Given the description of an element on the screen output the (x, y) to click on. 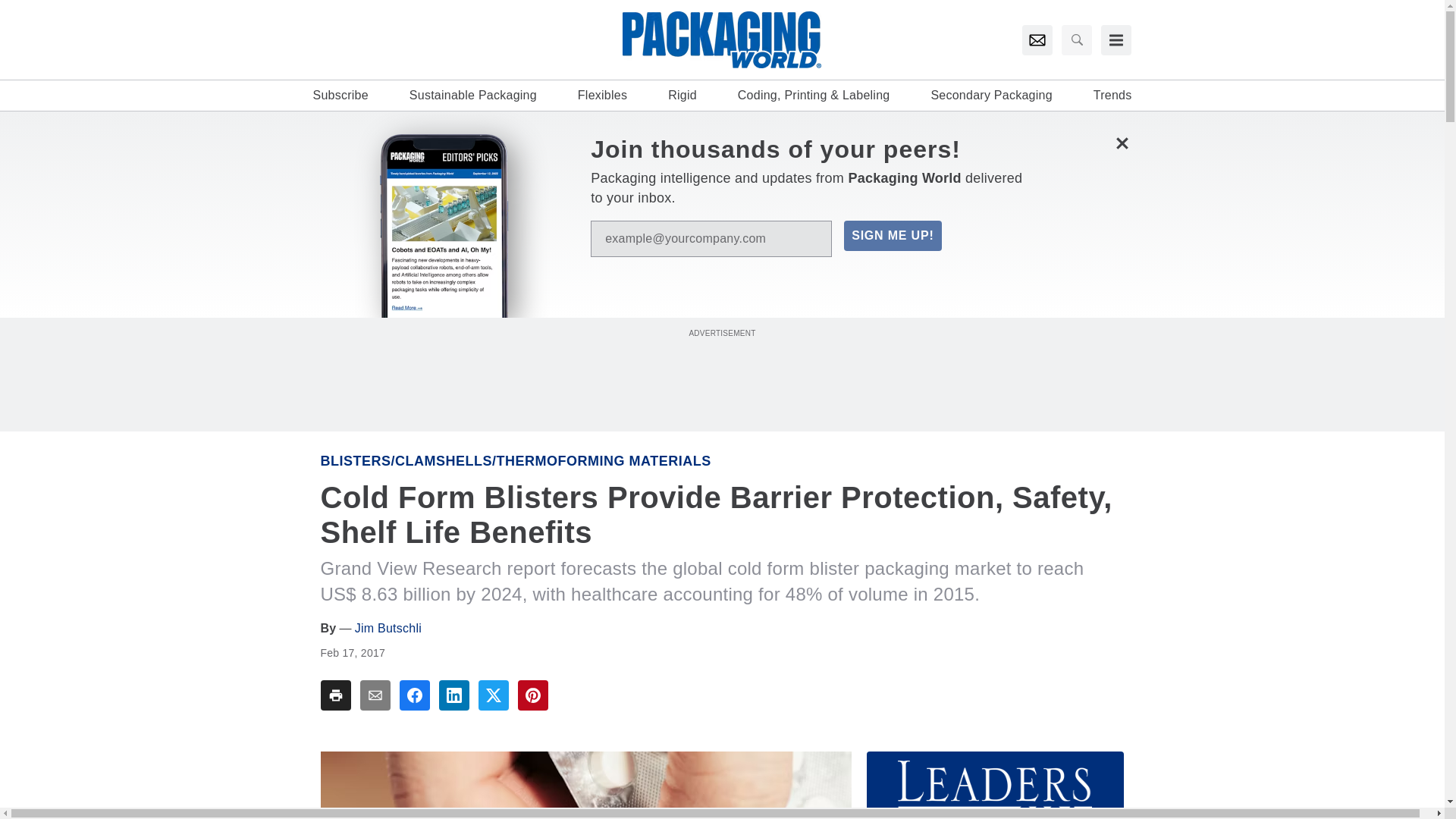
Share To linkedin (453, 695)
Sustainable Packaging (473, 95)
Share To facebook (413, 695)
SIGN ME UP! (892, 235)
Share To print (335, 695)
Trends (1112, 95)
3rd party ad content (722, 374)
Secondary Packaging (990, 95)
Share To pinterest (531, 695)
Subscribe (340, 95)
Share To email (374, 695)
Share To twitter (492, 695)
Flexibles (602, 95)
Rigid (682, 95)
